Given the description of an element on the screen output the (x, y) to click on. 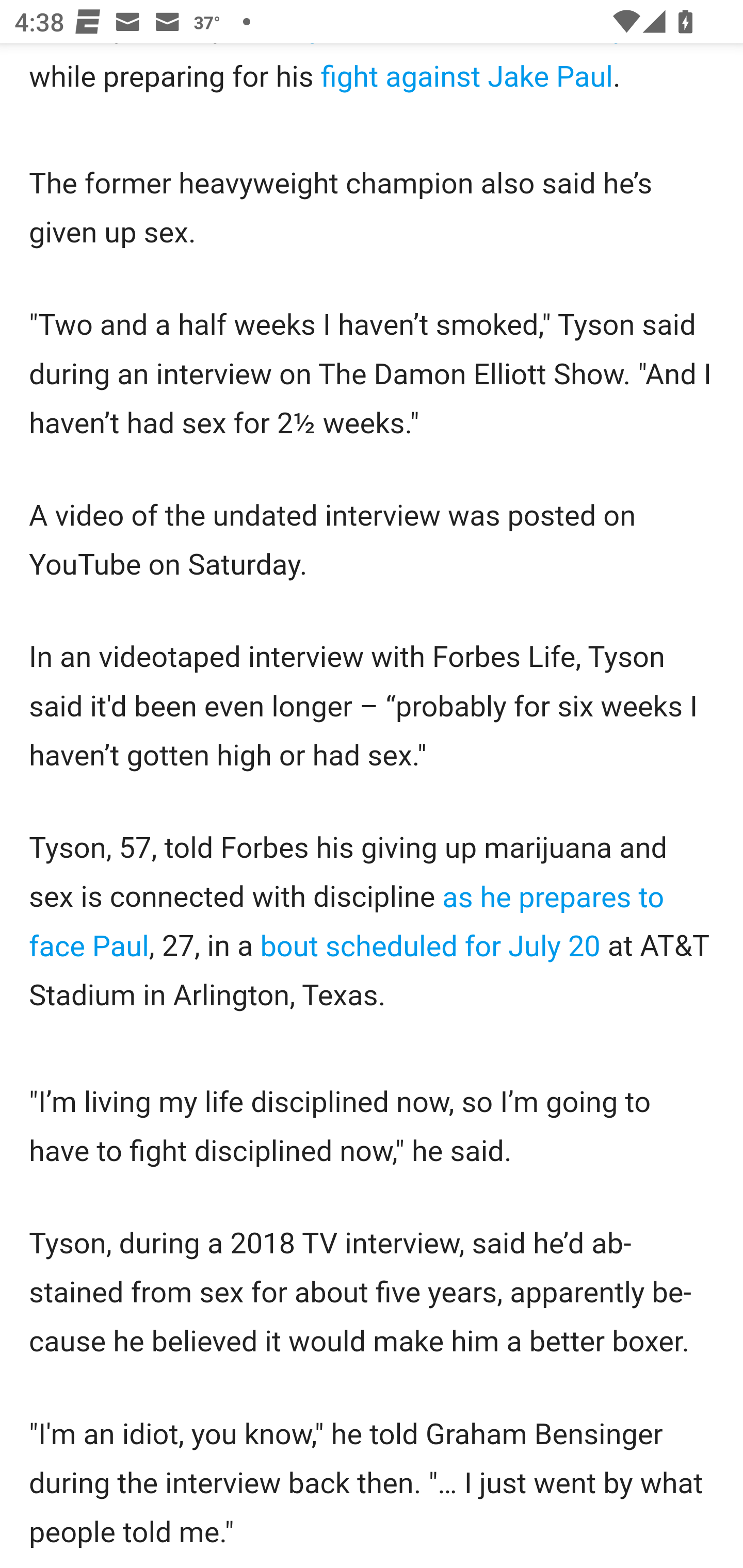
fight against Jake Paul (466, 77)
as he prepares to face Paul (347, 922)
bout scheduled for July 20 (430, 946)
